Given the description of an element on the screen output the (x, y) to click on. 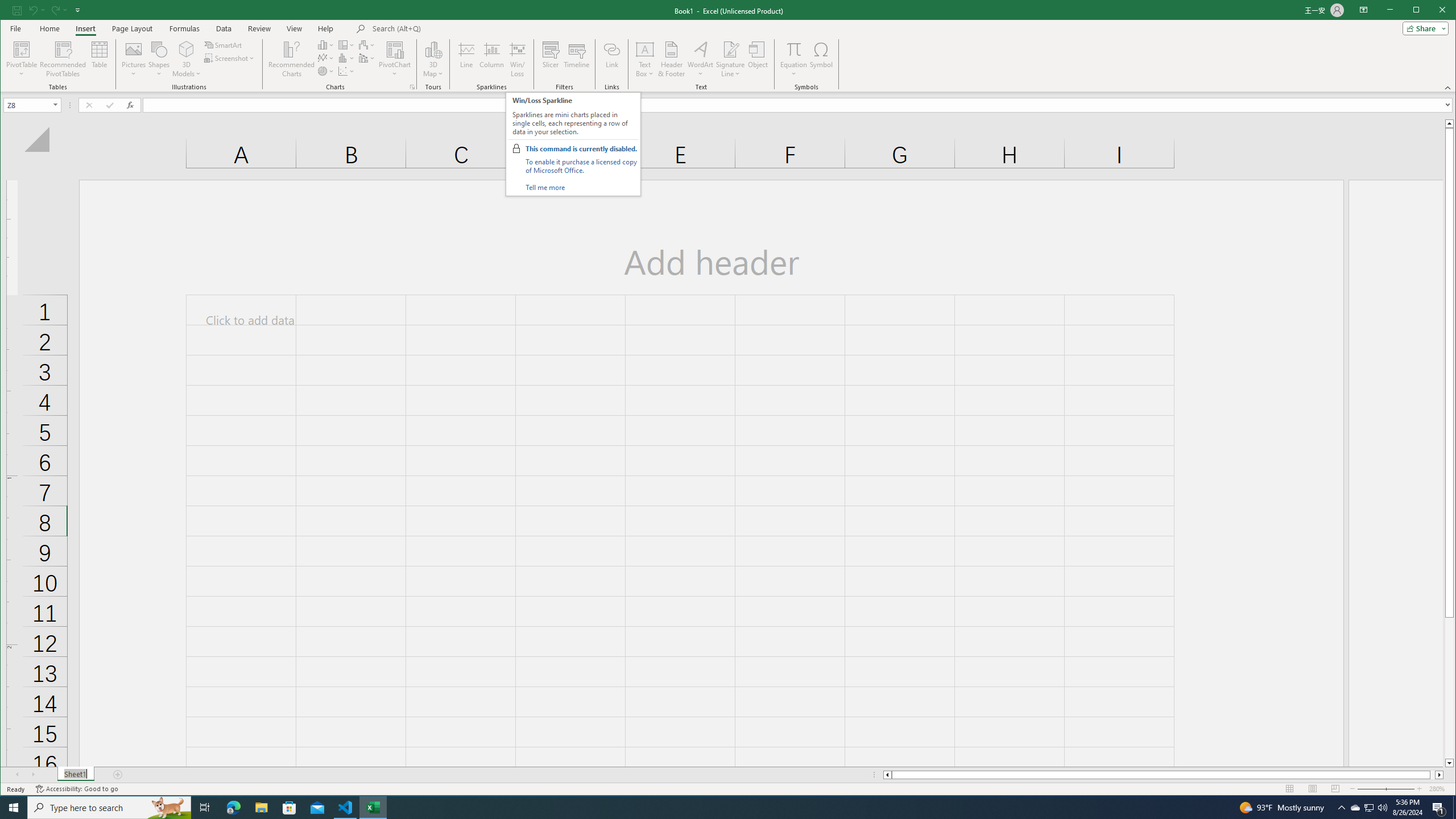
Equation (793, 48)
Equation (793, 59)
Text Box (644, 59)
SmartArt... (224, 44)
Line (466, 59)
Table (99, 59)
